Given the description of an element on the screen output the (x, y) to click on. 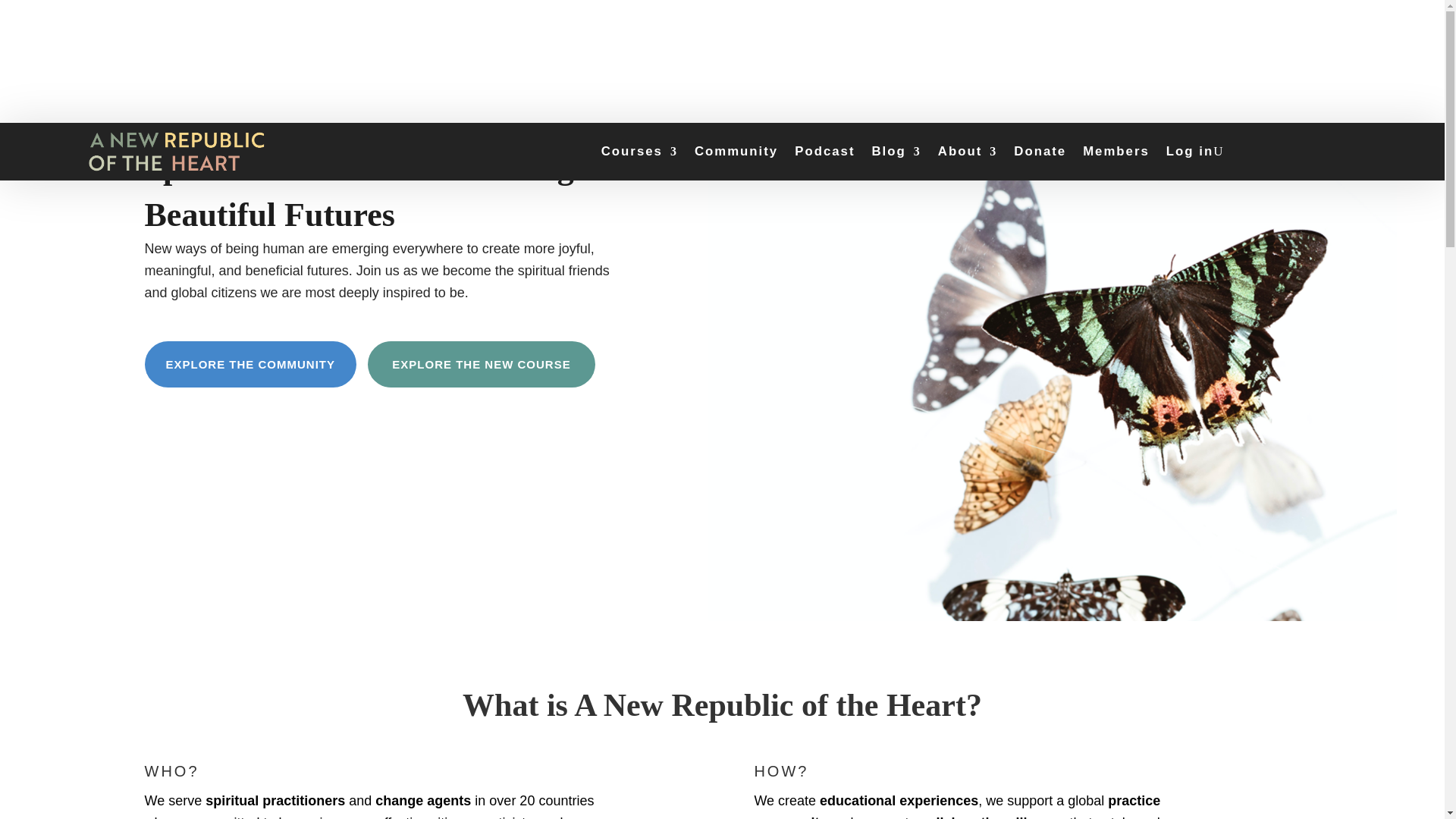
Members (1116, 151)
About (967, 151)
Donate (1039, 151)
State of Emergence Podcast (824, 151)
Podcast (824, 151)
EXPLORE THE COMMUNITY (250, 364)
Community (735, 151)
EXPLORE THE NEW COURSE (481, 364)
Courses (639, 151)
